Given the description of an element on the screen output the (x, y) to click on. 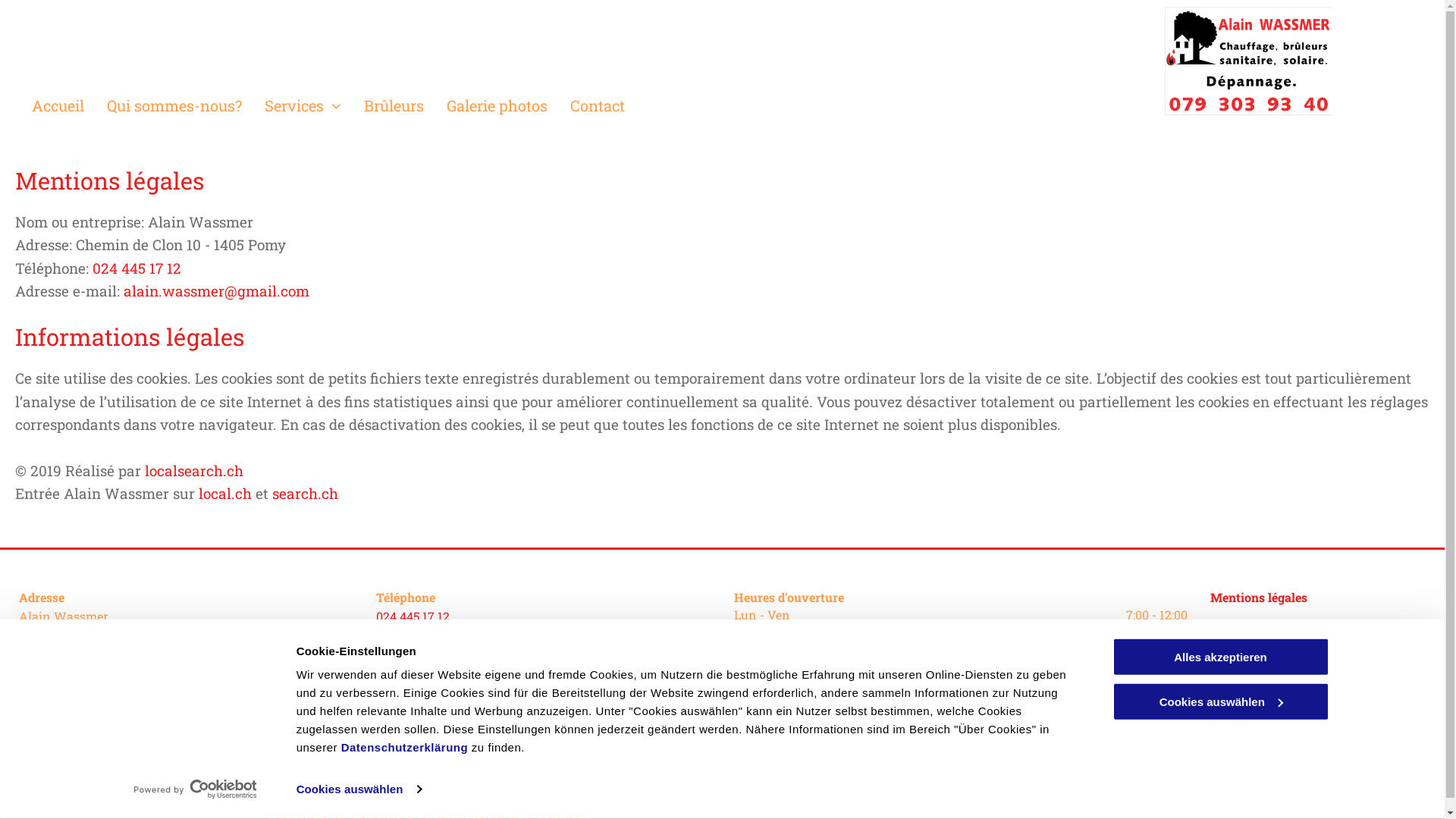
024 445 17 12 Element type: text (412, 616)
079 303 93 40 Element type: text (414, 694)
Alles akzeptieren Element type: text (1219, 656)
Services Element type: text (314, 105)
Contact Element type: text (608, 105)
Qui sommes-nous? Element type: text (185, 105)
Accueil Element type: text (68, 105)
Galerie photos Element type: text (508, 105)
search.ch Element type: text (305, 492)
alain.wassmer@gmail.com Element type: text (453, 655)
024 445 17 12 Element type: text (136, 267)
alain.wassmer@gmail.com Element type: text (216, 290)
localsearch.ch Element type: text (193, 470)
local.ch Element type: text (224, 492)
